Given the description of an element on the screen output the (x, y) to click on. 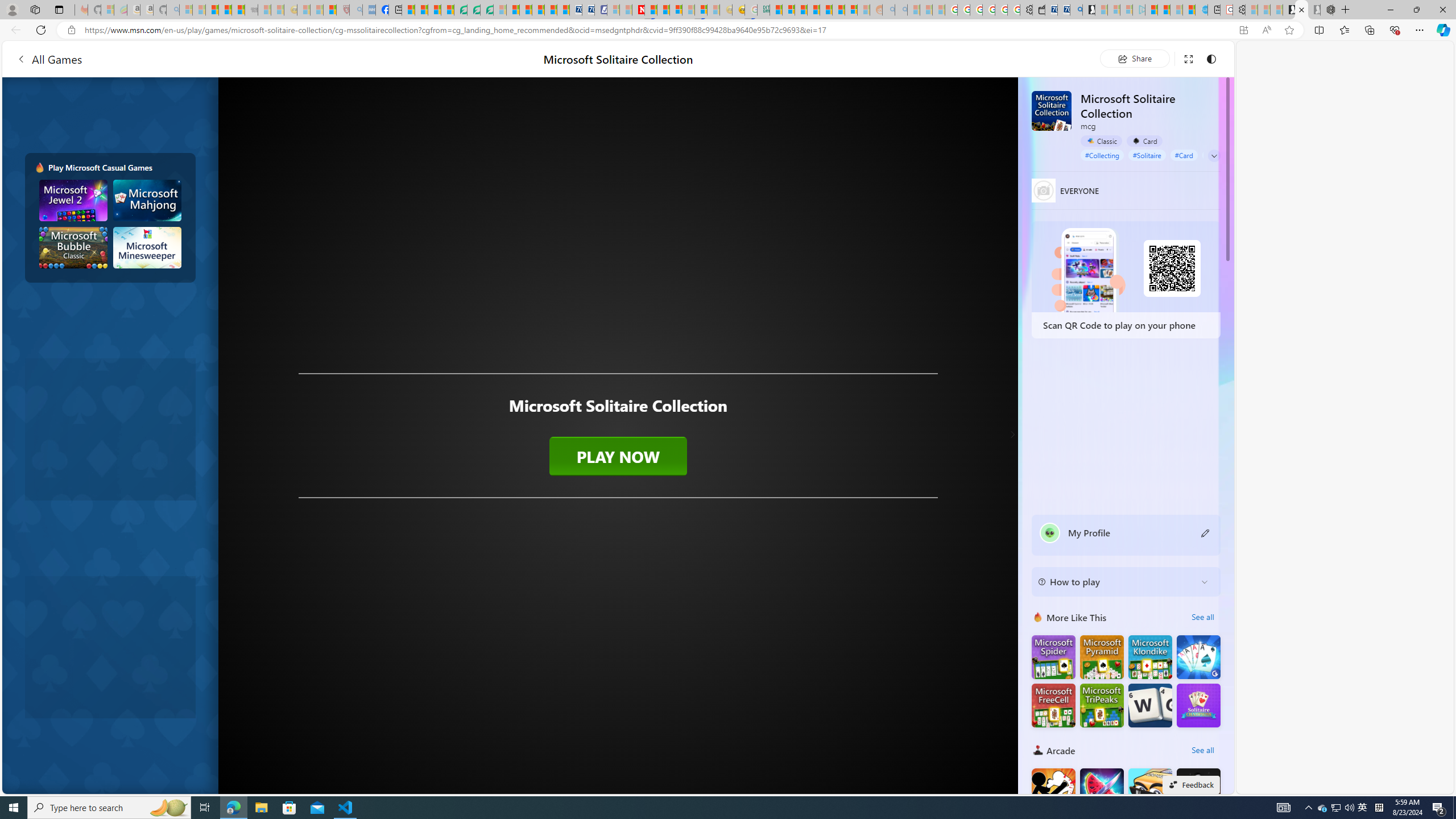
Microsoft Pyramid Solitaire (1101, 657)
Microsoft Bubble Classic (73, 247)
Microsoft Solitaire (1149, 657)
Kinda Frugal - MSN (838, 9)
Class: expand-arrow neutral (1214, 155)
LendingTree - Compare Lenders (460, 9)
Fire icon (39, 167)
Full screen (1187, 58)
All Games (216, 58)
